Given the description of an element on the screen output the (x, y) to click on. 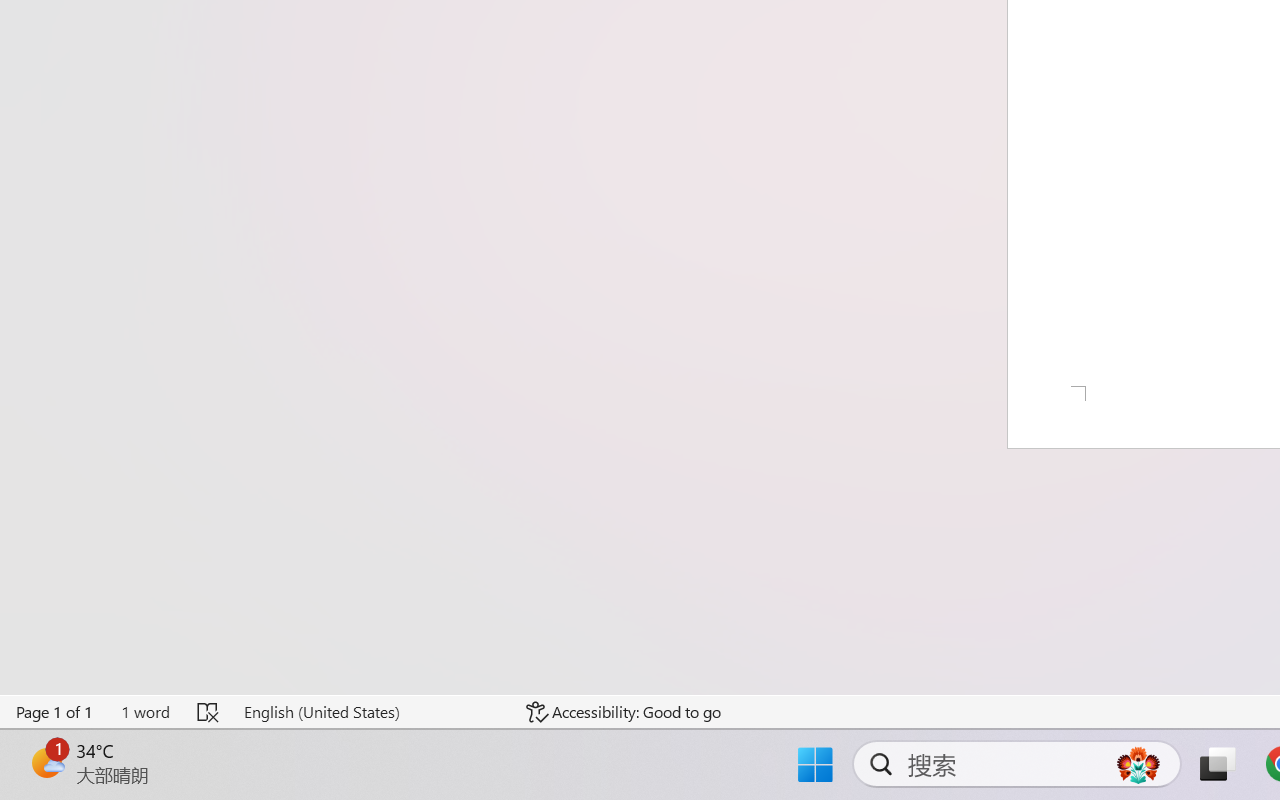
Spelling and Grammar Check Errors (208, 712)
